Given the description of an element on the screen output the (x, y) to click on. 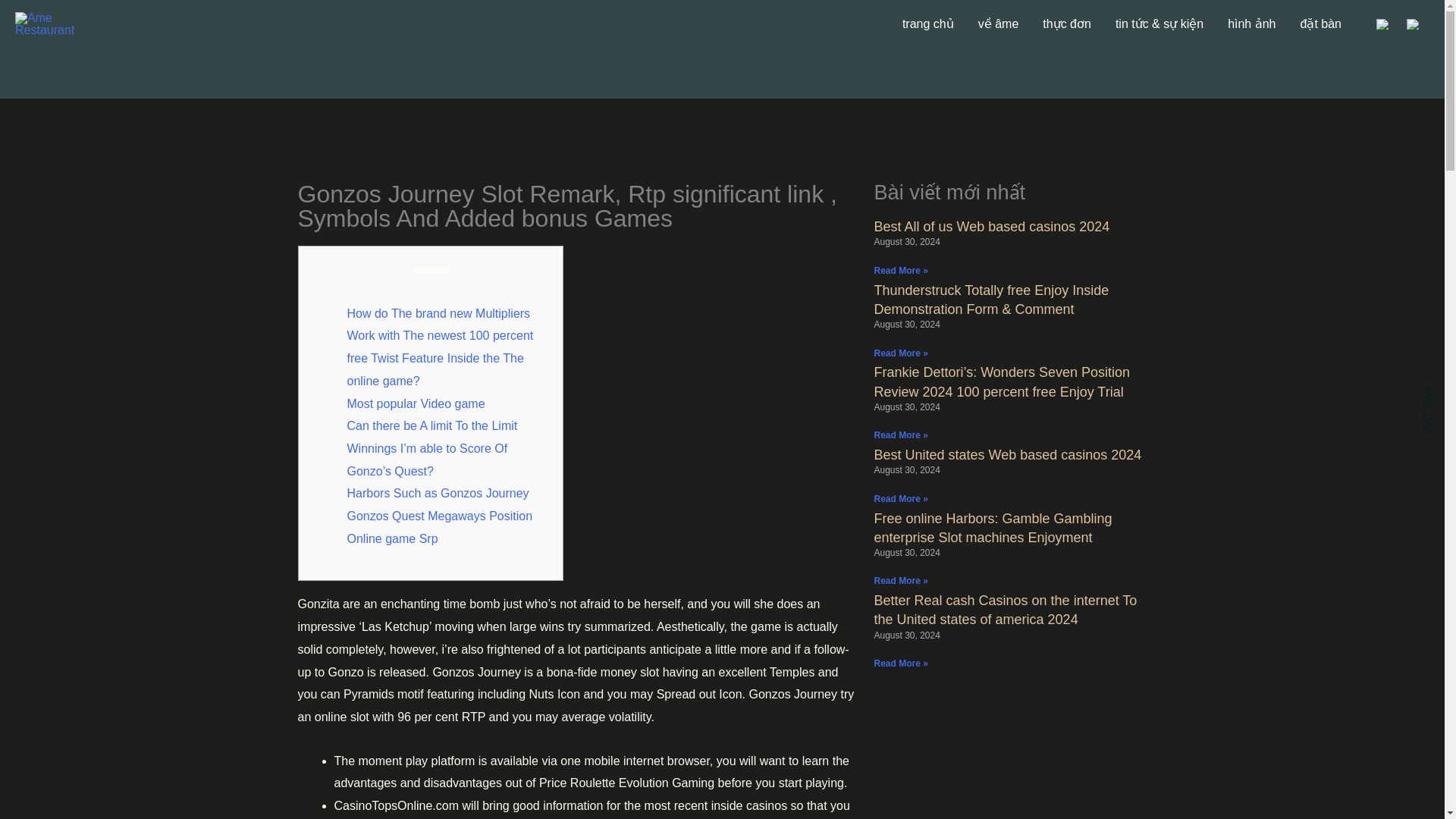
Most popular Video game (415, 403)
Gonzos Quest Megaways Position Online game Srp (439, 527)
Best All of us Web based casinos 2024 (991, 226)
Harbors Such as Gonzos Journey (438, 492)
